Given the description of an element on the screen output the (x, y) to click on. 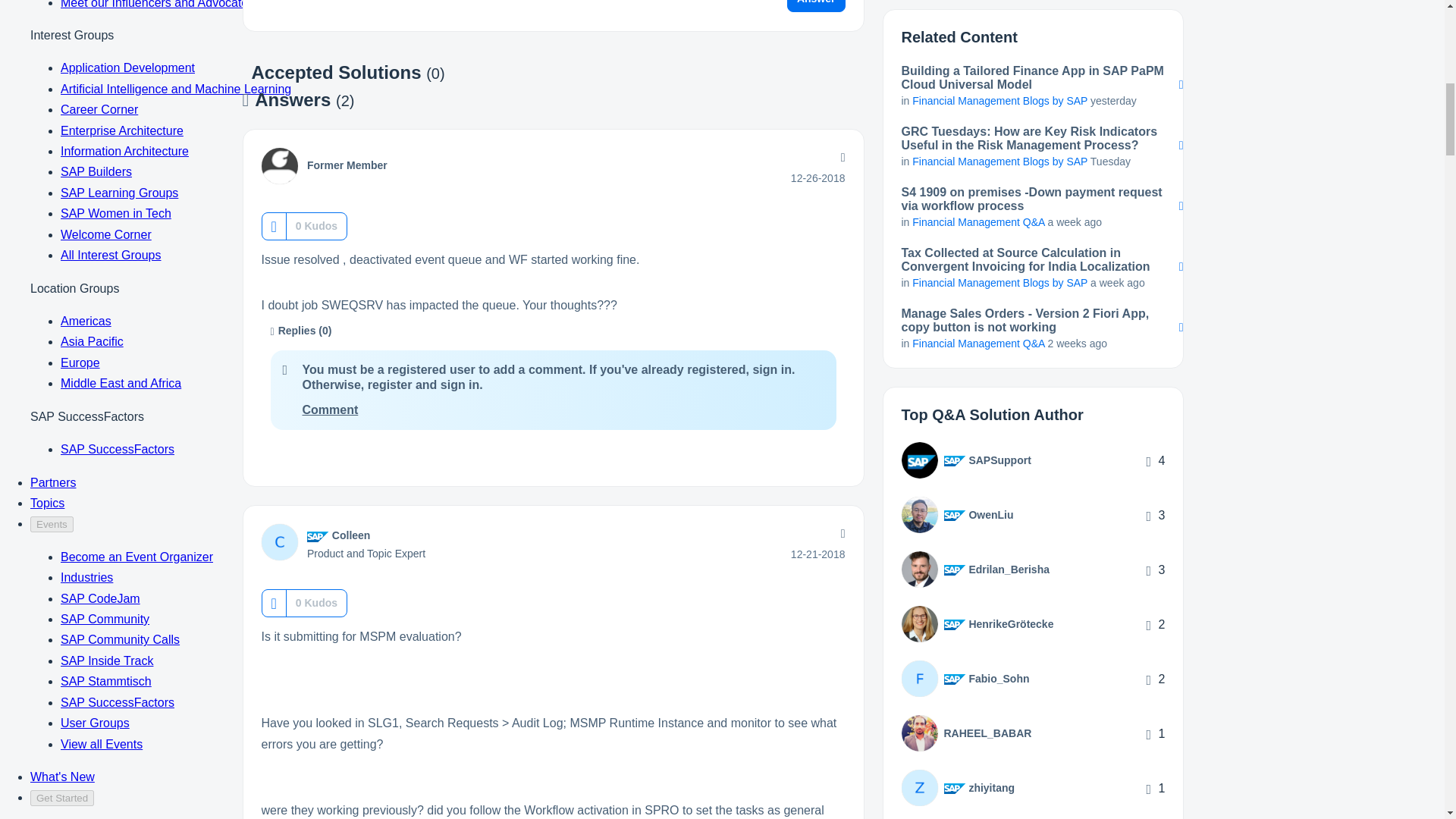
Colleen (351, 535)
Posted on (817, 177)
Comment (329, 409)
Answer (816, 6)
The total number of kudos this post has received. (316, 225)
